Given the description of an element on the screen output the (x, y) to click on. 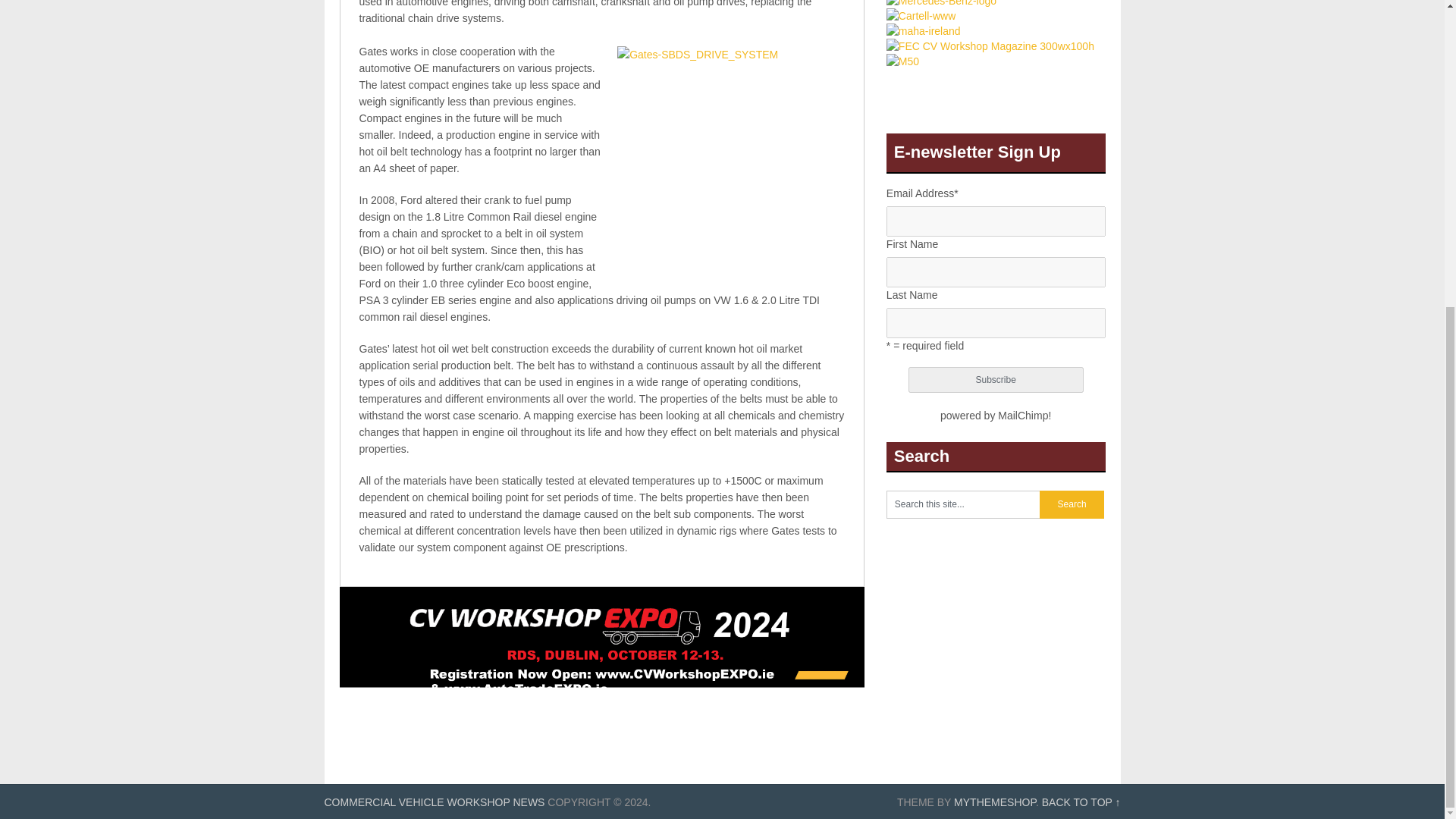
Search (1071, 504)
Subscribe (995, 379)
M50 (902, 61)
FEC CV Workshop Magazine 300wx100h (990, 46)
COMMERCIAL VEHICLE WORKSHOP NEWS (434, 802)
Search this site... (962, 504)
maha-ireland (923, 30)
MailChimp (1022, 415)
Mercedes-Benz-logo (940, 3)
Subscribe (995, 379)
